Given the description of an element on the screen output the (x, y) to click on. 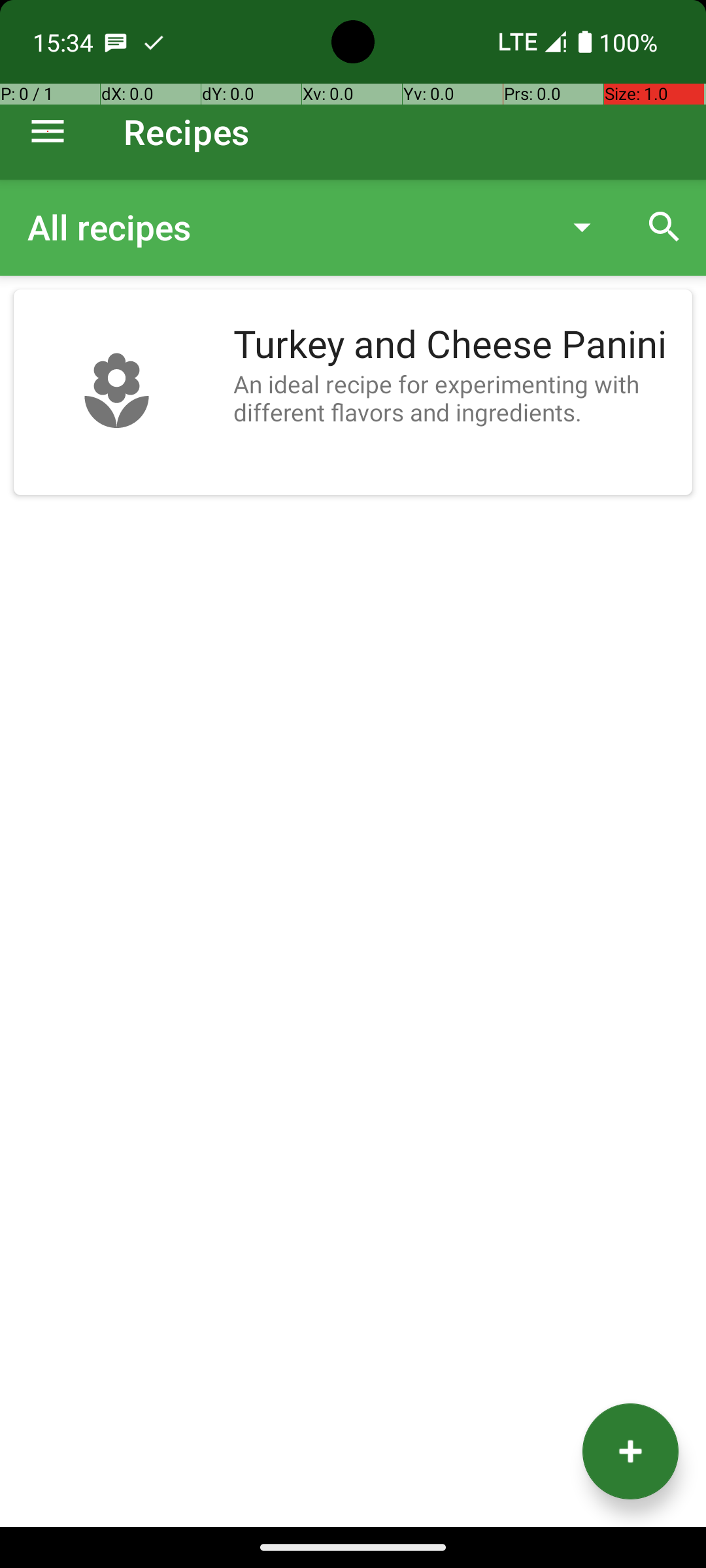
Turkey and Cheese Panini Element type: android.widget.TextView (455, 344)
